Given the description of an element on the screen output the (x, y) to click on. 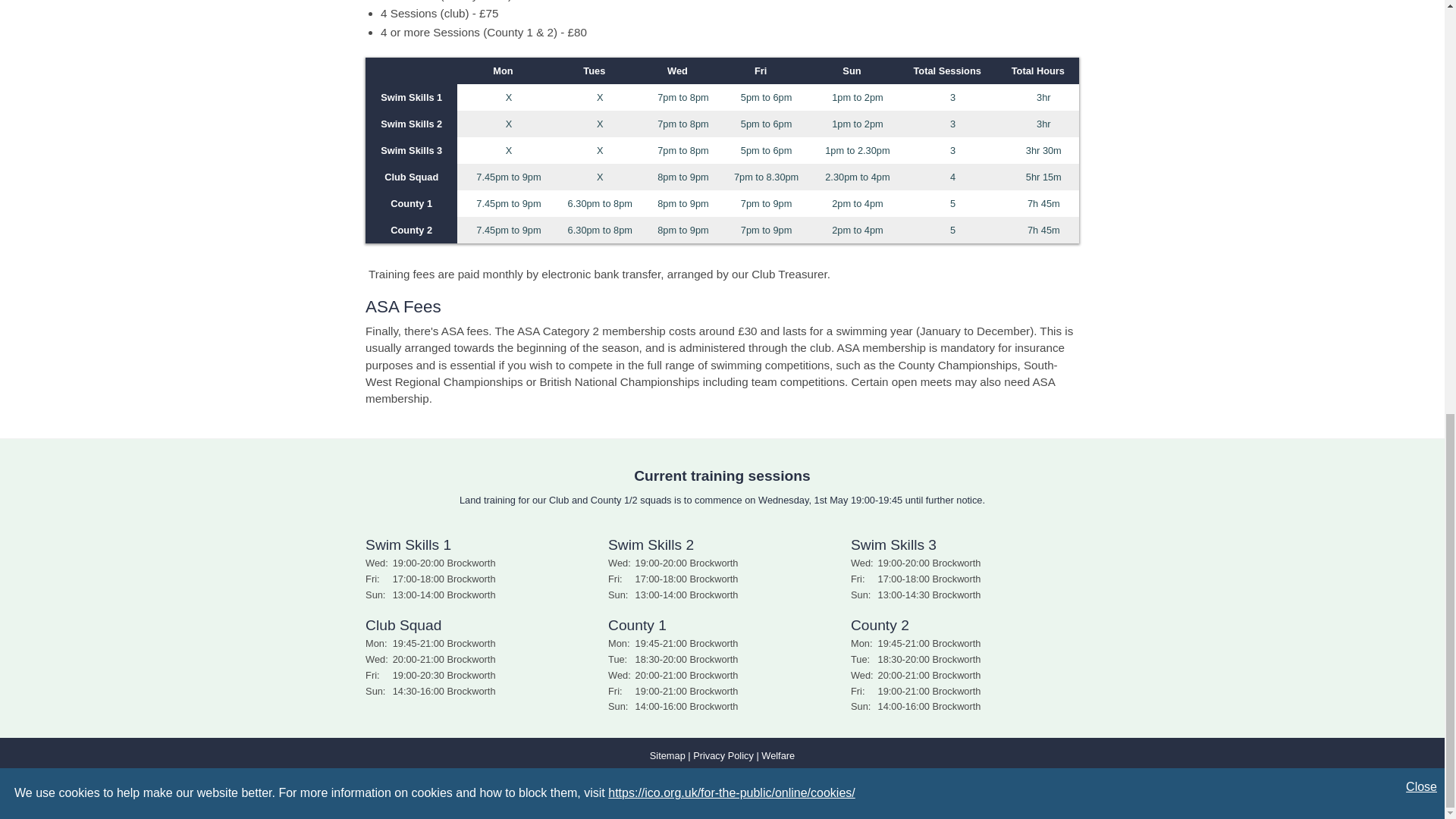
Privacy Policy (723, 755)
Web design in Cheltenham by Bluelinemedia (721, 800)
Web design in Cheltenham by Bluelinemedia (721, 800)
Sitemap (667, 755)
Welfare (777, 755)
